Given the description of an element on the screen output the (x, y) to click on. 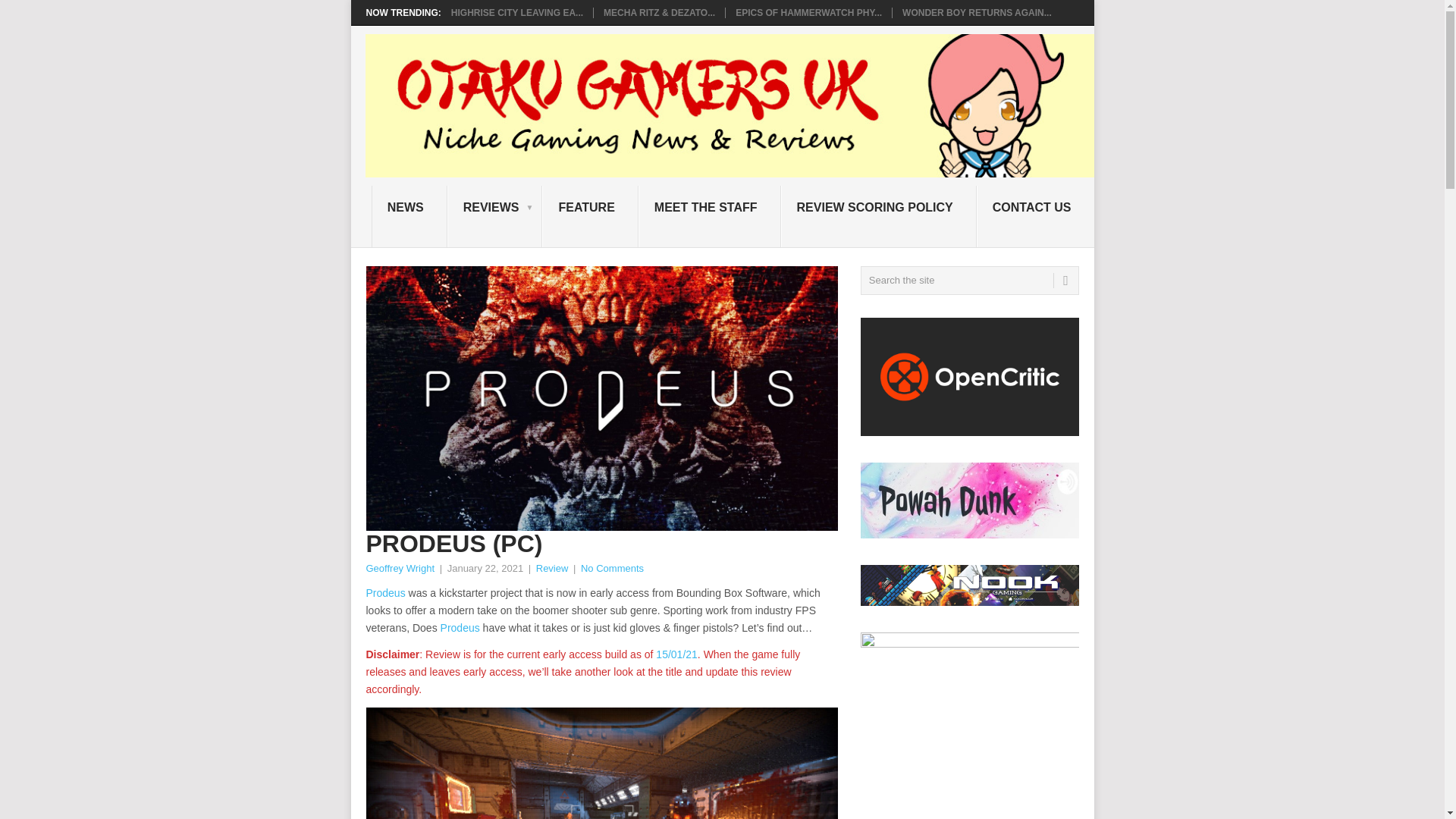
Wonder Boy Returns Again! Physical Release. (976, 12)
Prodeus (460, 627)
MEET THE STAFF (709, 216)
Highrise City Leaving Early Access (517, 12)
FEATURE (589, 216)
HIGHRISE CITY LEAVING EA... (517, 12)
No Comments (613, 568)
NEWS (408, 216)
Posts by Geoffrey Wright (399, 568)
Review (552, 568)
REVIEWS (494, 216)
Prodeus (384, 592)
REVIEW SCORING POLICY (878, 216)
WONDER BOY RETURNS AGAIN... (976, 12)
CONTACT US (1035, 216)
